Given the description of an element on the screen output the (x, y) to click on. 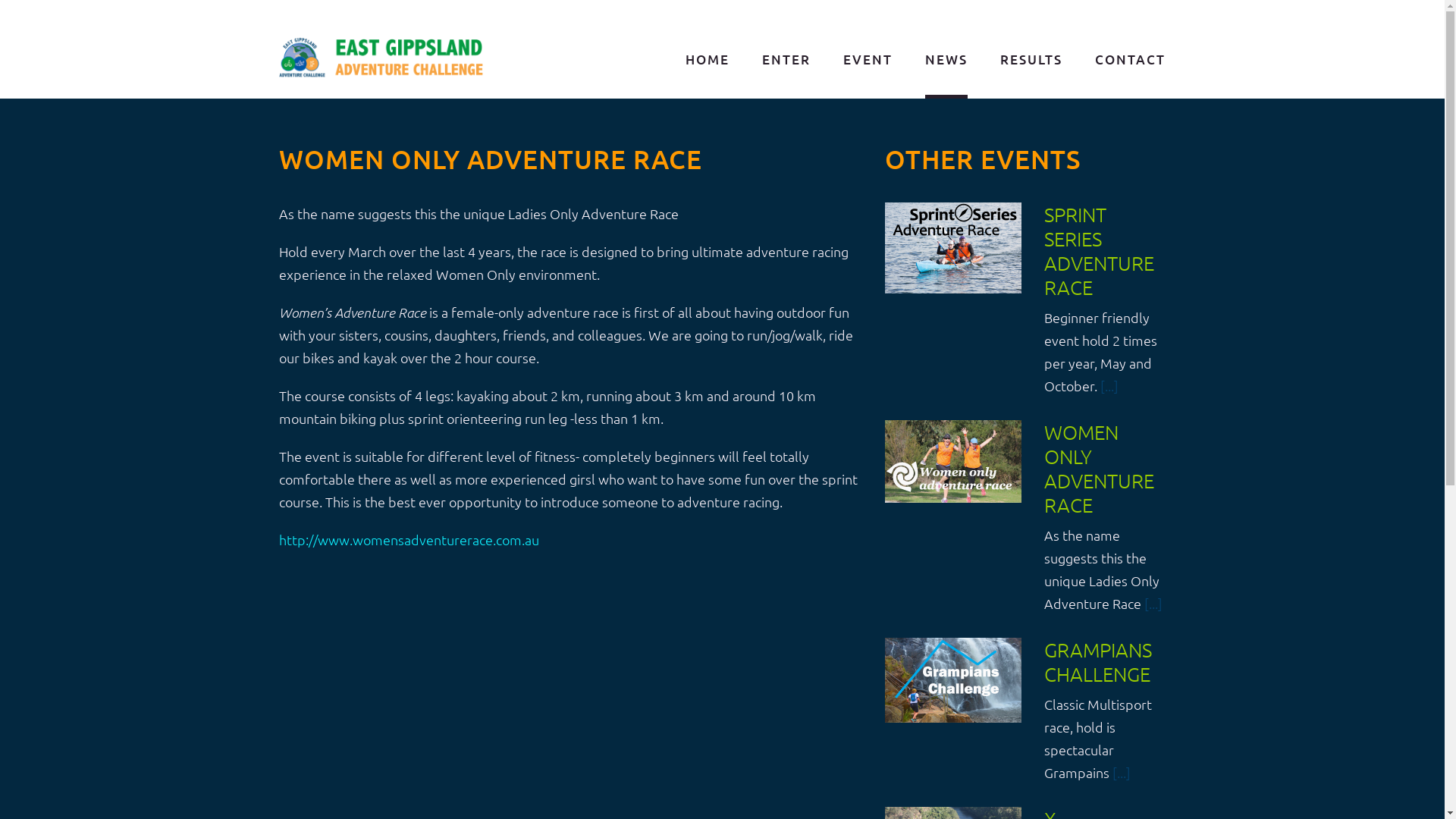
RESULTS Element type: text (1031, 60)
CONTACT Element type: text (1130, 60)
http://www.womensadventurerace.com.au Element type: text (409, 539)
SPRINT SERIES ADVENTURE RACE Element type: text (1099, 250)
NEWS Element type: text (946, 60)
[...] Element type: text (1109, 385)
GRAMPIANS CHALLENGE Element type: text (1097, 661)
ENTER Element type: text (786, 60)
[...] Element type: text (1153, 602)
EVENT Element type: text (867, 60)
HOME Element type: text (707, 60)
[...] Element type: text (1121, 772)
WOMEN ONLY ADVENTURE RACE Element type: text (1099, 468)
